Given the description of an element on the screen output the (x, y) to click on. 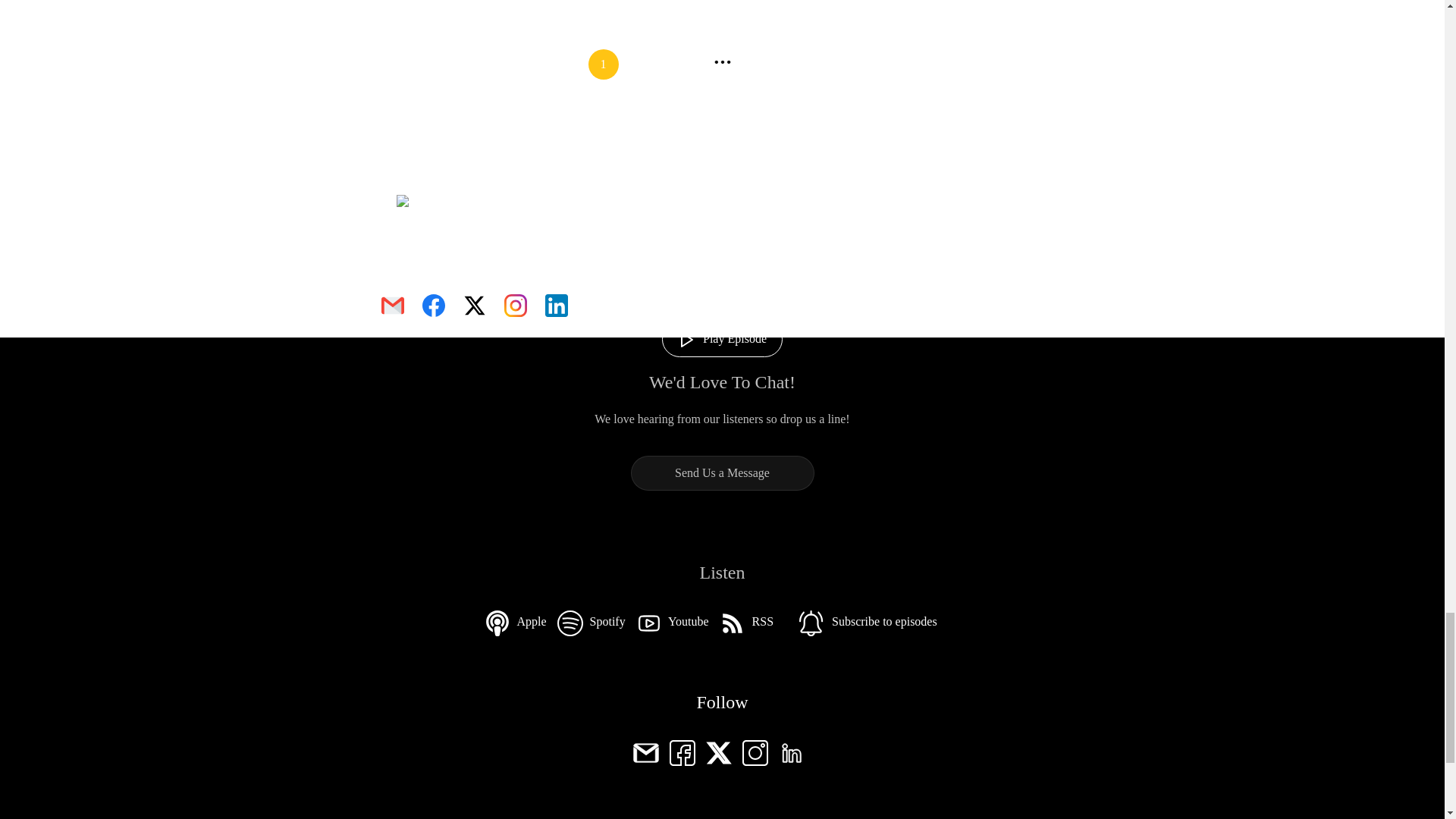
Twitter (717, 750)
1 (603, 64)
Facebook (681, 750)
28 (759, 64)
Instagram (754, 750)
2 (643, 64)
29 (800, 64)
LinkedIn (790, 750)
3 (684, 64)
